Given the description of an element on the screen output the (x, y) to click on. 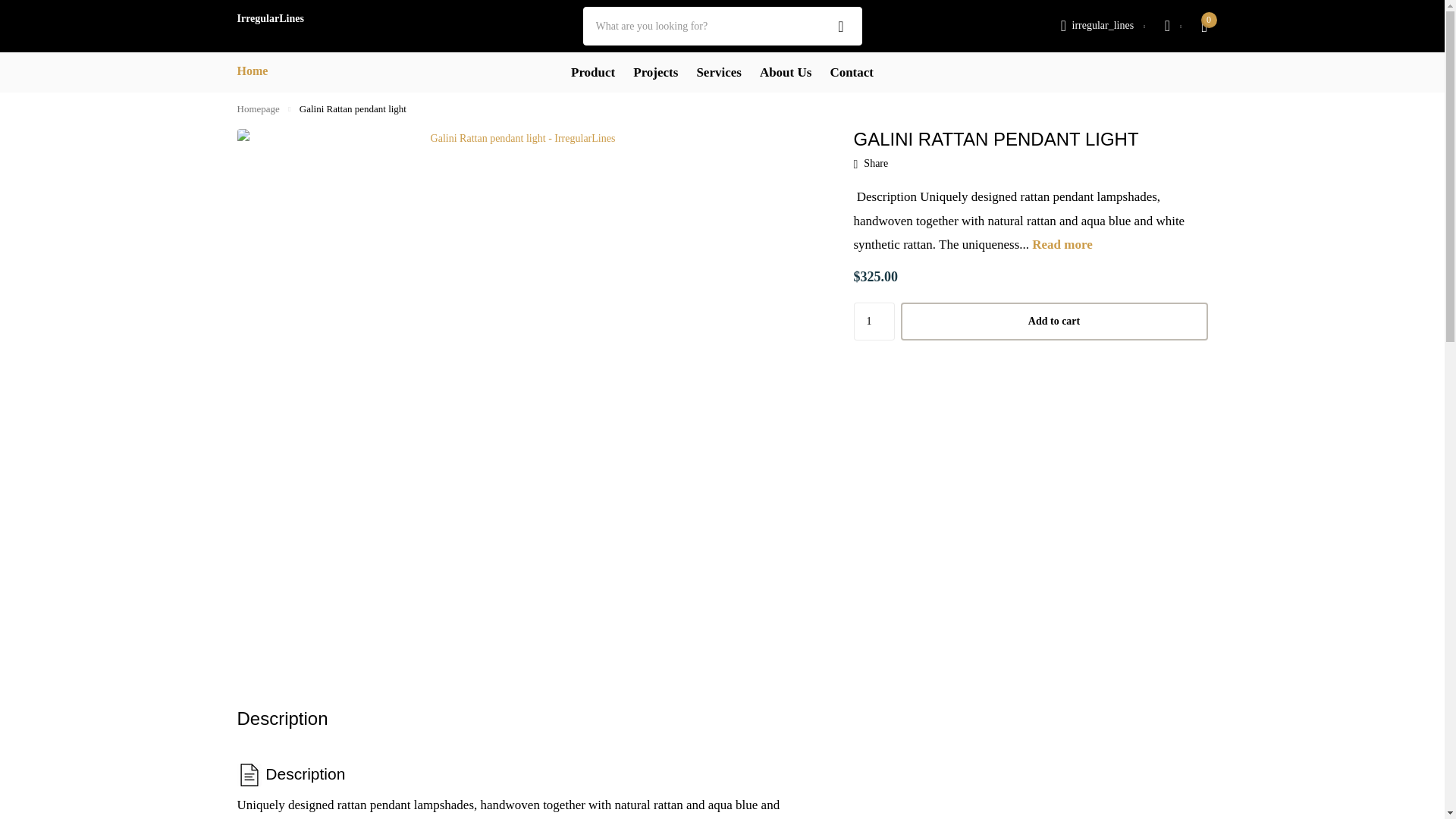
Projects (655, 72)
Product (592, 72)
Zoeken (841, 25)
Home (257, 108)
1 (874, 321)
Home (251, 70)
